Given the description of an element on the screen output the (x, y) to click on. 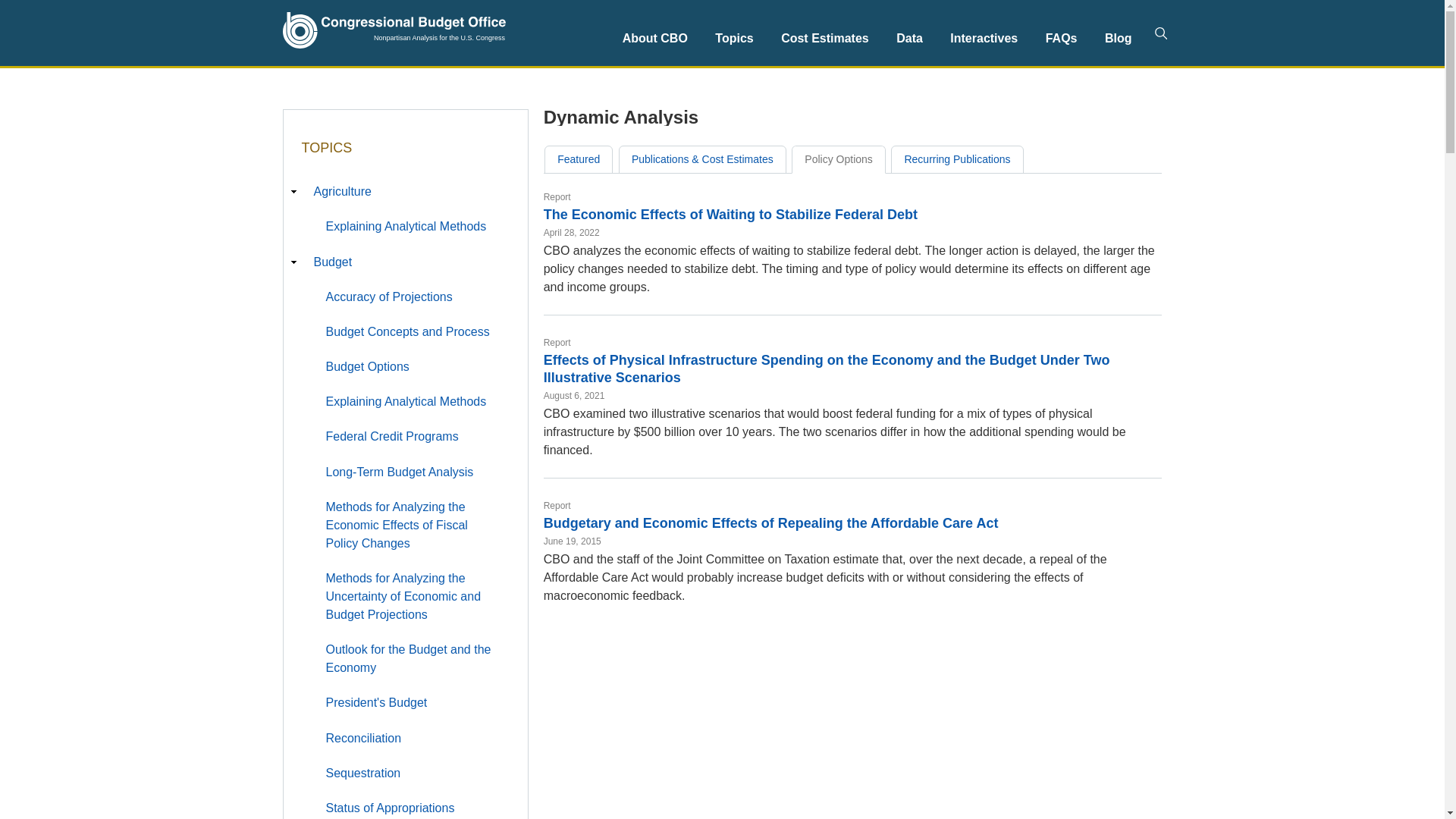
Data (908, 38)
Agriculture (405, 192)
Federal Credit Programs (411, 437)
Blog (1118, 38)
Interactives (983, 38)
Congressional Budget Office Home (394, 30)
Outlook for the Budget and the Economy (411, 659)
Budget Concepts and Process (411, 332)
Explaining Analytical Methods (411, 402)
